Given the description of an element on the screen output the (x, y) to click on. 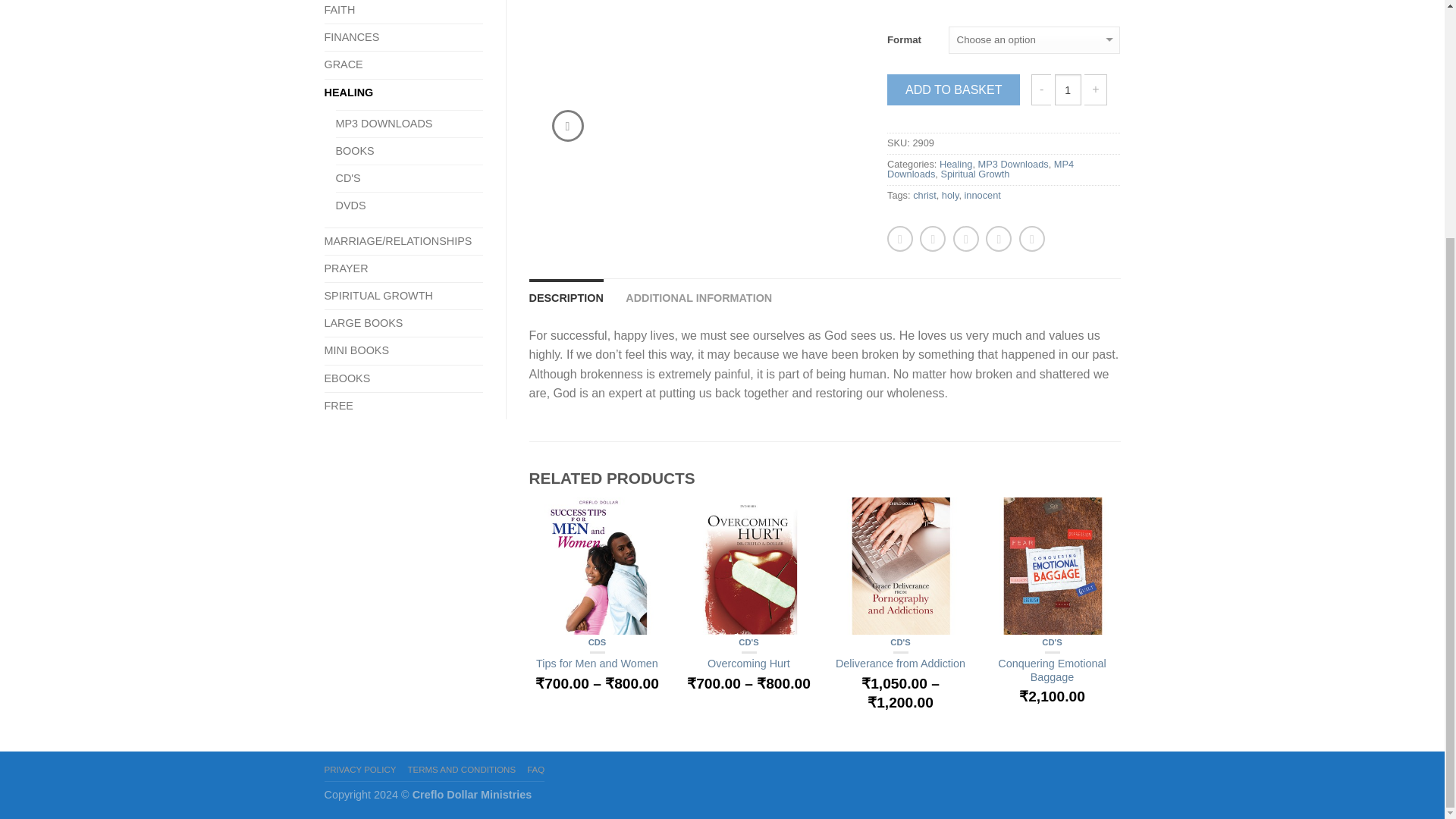
FAITH (345, 11)
